Given the description of an element on the screen output the (x, y) to click on. 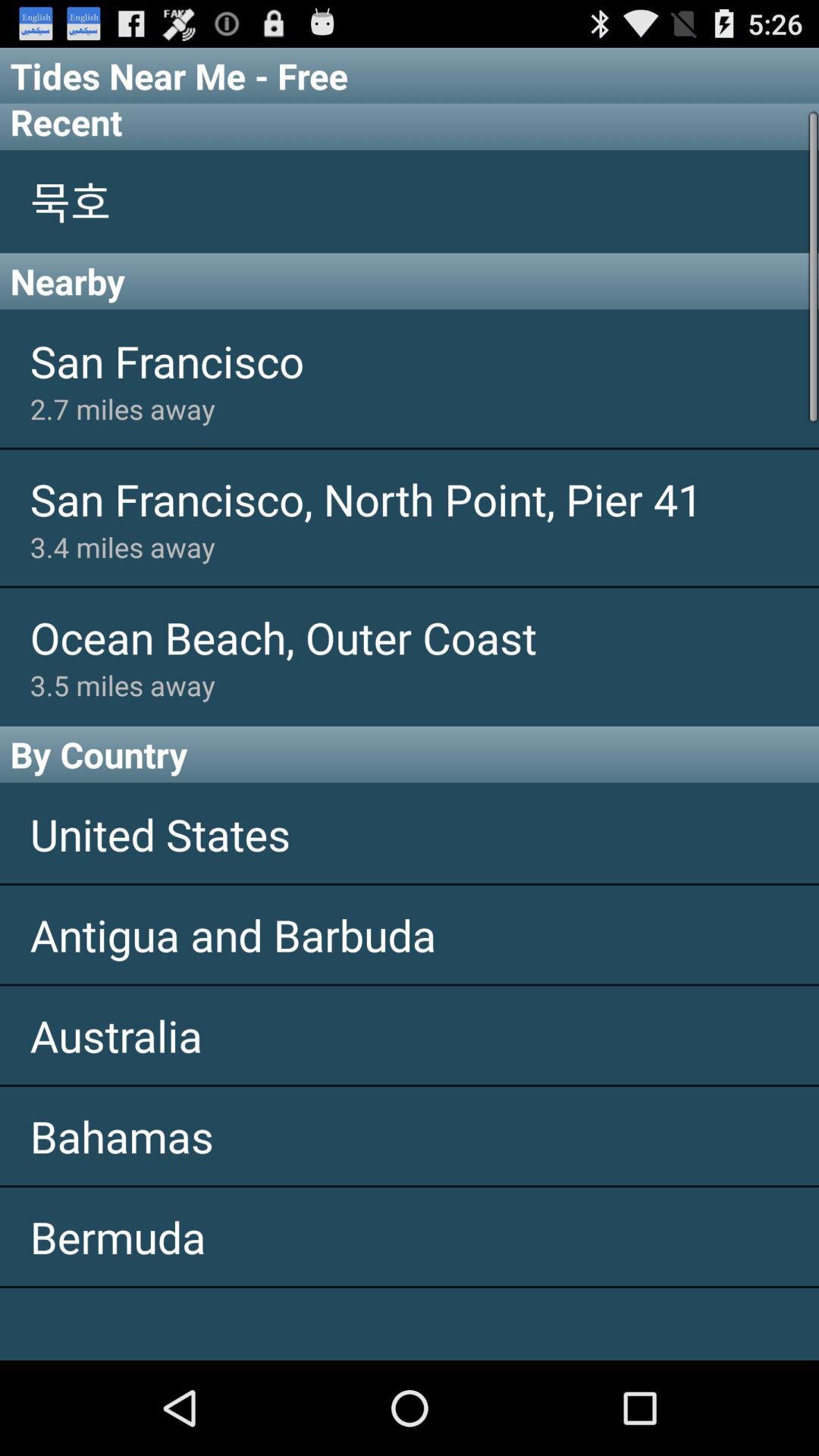
tap nearby app (409, 281)
